Given the description of an element on the screen output the (x, y) to click on. 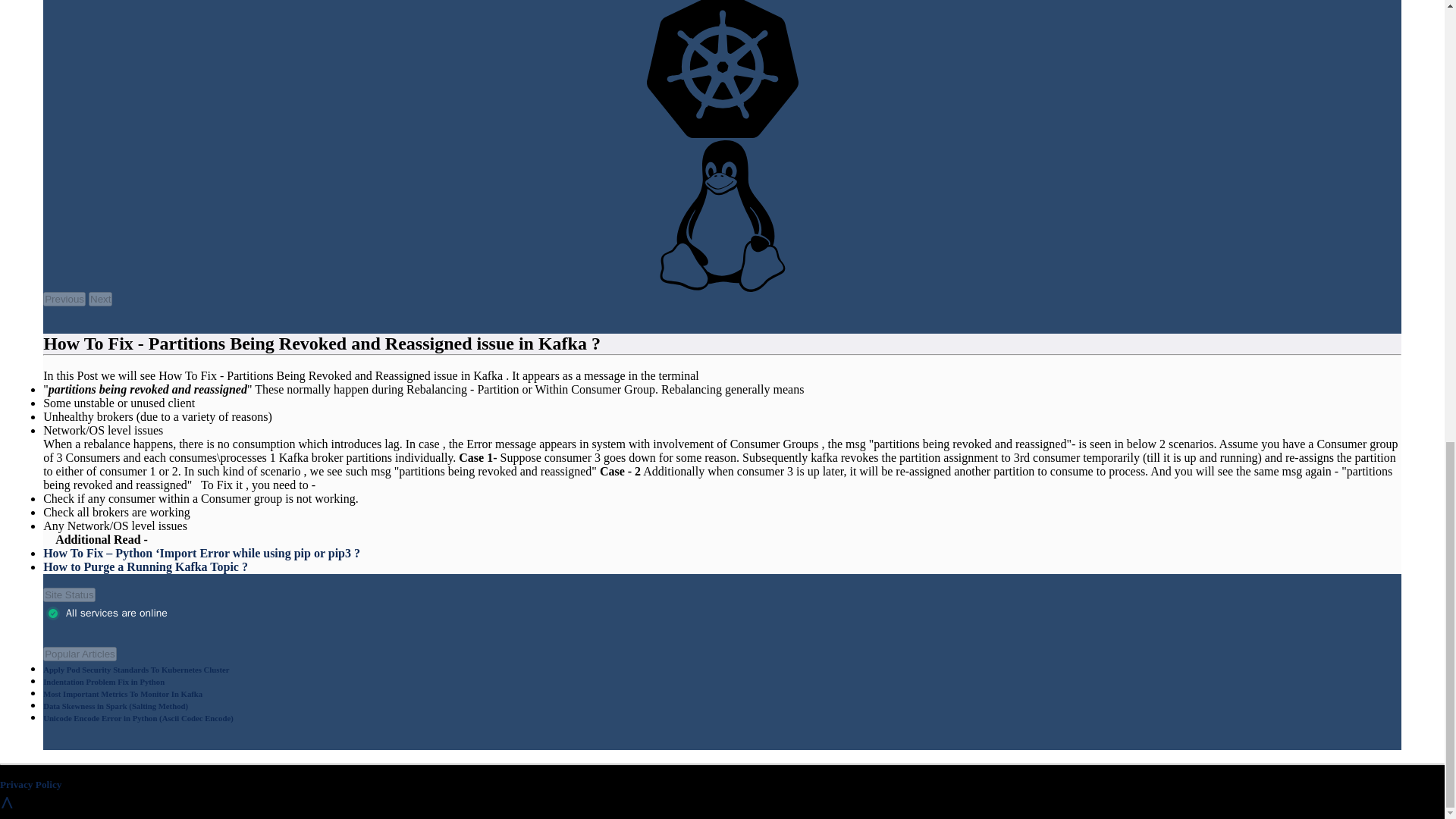
Previous (64, 298)
How to Purge a Running Kafka Topic ? (145, 566)
Privacy Policy (30, 784)
Next (100, 298)
Site Status (68, 594)
Popular Articles (79, 653)
Apply Pod Security Standards To Kubernetes Cluster (135, 669)
